Given the description of an element on the screen output the (x, y) to click on. 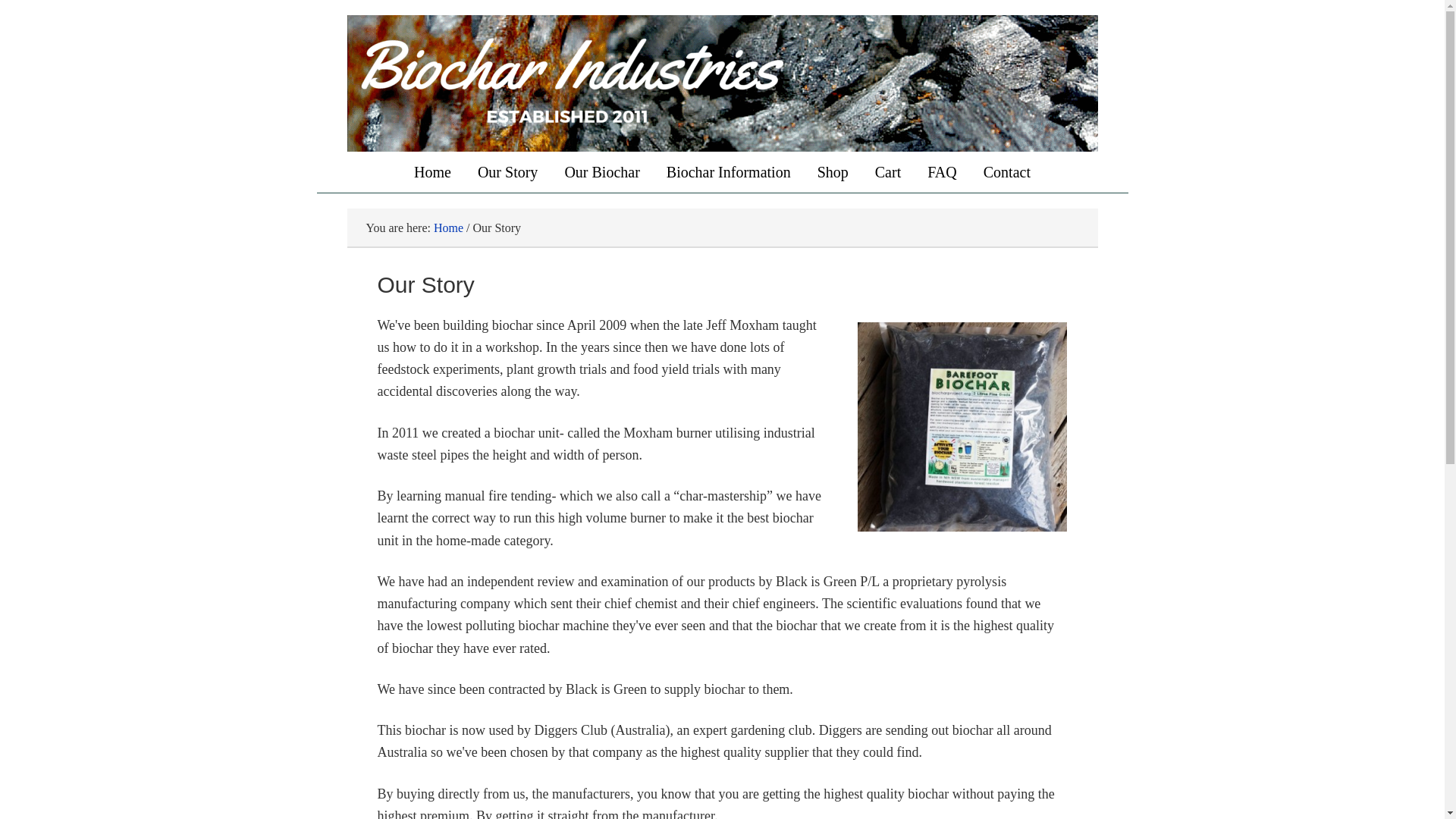
Our Biochar (601, 171)
Biochar (722, 83)
FAQ (941, 171)
Shop (833, 171)
Home (433, 171)
Our Story (506, 171)
Biochar Information (728, 171)
Home (448, 227)
Cart (887, 171)
Contact (1007, 171)
